Given the description of an element on the screen output the (x, y) to click on. 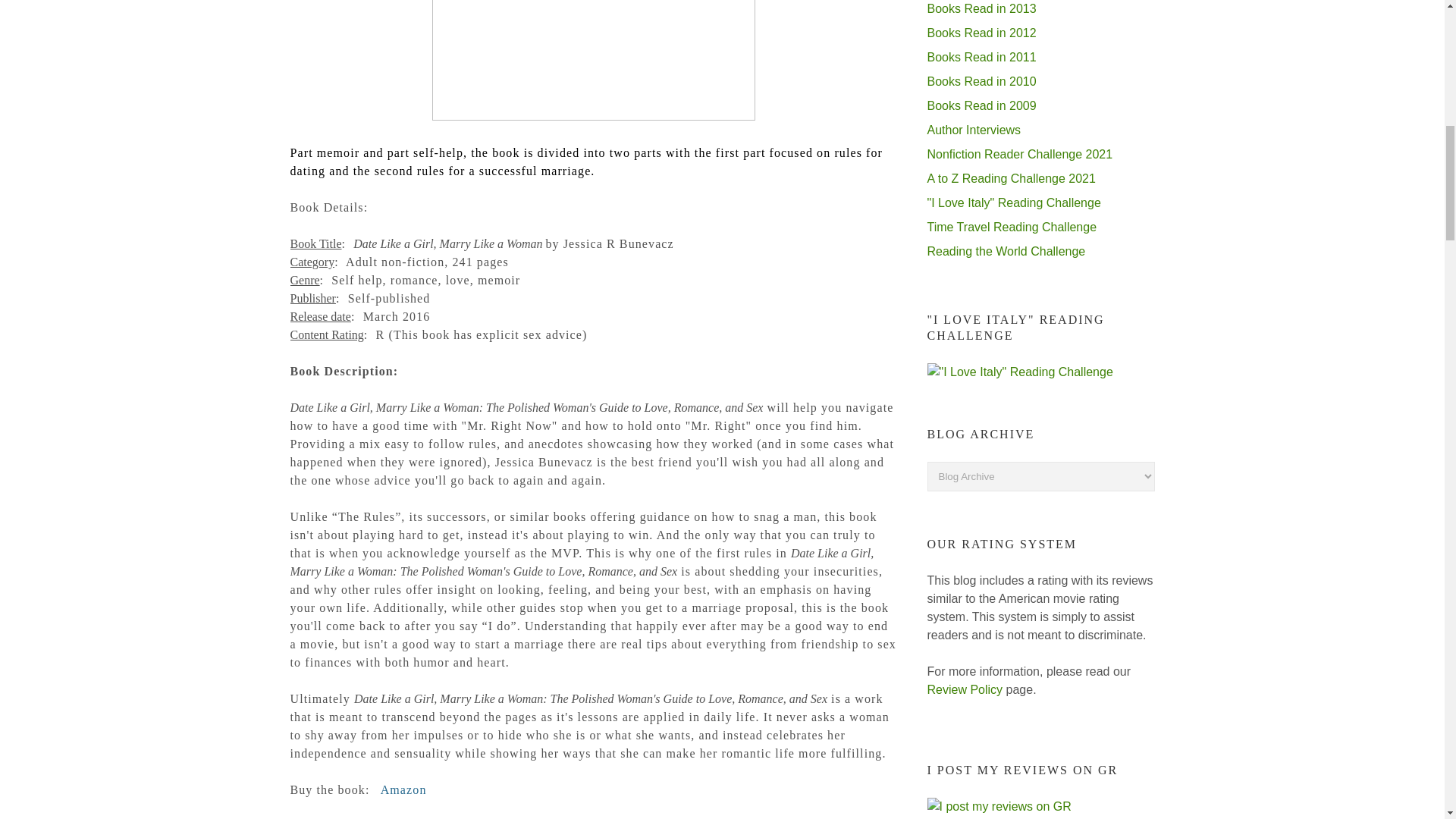
Amazon   (406, 789)
